Given the description of an element on the screen output the (x, y) to click on. 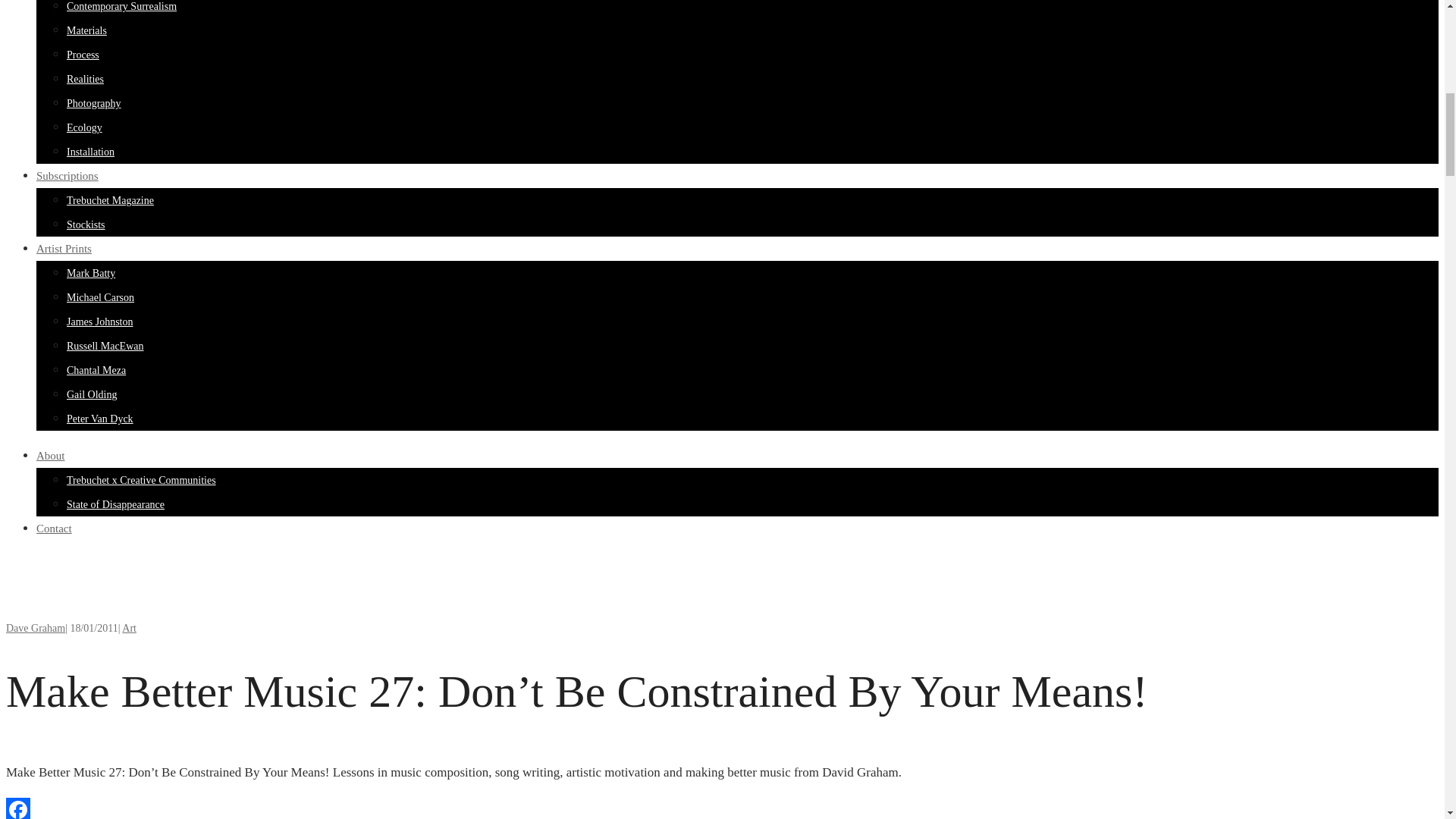
Michael Carson (99, 297)
James Johnston (99, 321)
Subscriptions (67, 175)
Ecology (83, 127)
Trebuchet Magazine (110, 200)
Process (82, 54)
Russell MacEwan (104, 346)
Mark Batty (90, 273)
Materials (86, 30)
Stockists (85, 224)
Posts by Dave Graham (35, 627)
Artist Prints (63, 248)
Realities (84, 79)
Installation (90, 152)
Contemporary Surrealism (121, 6)
